Given the description of an element on the screen output the (x, y) to click on. 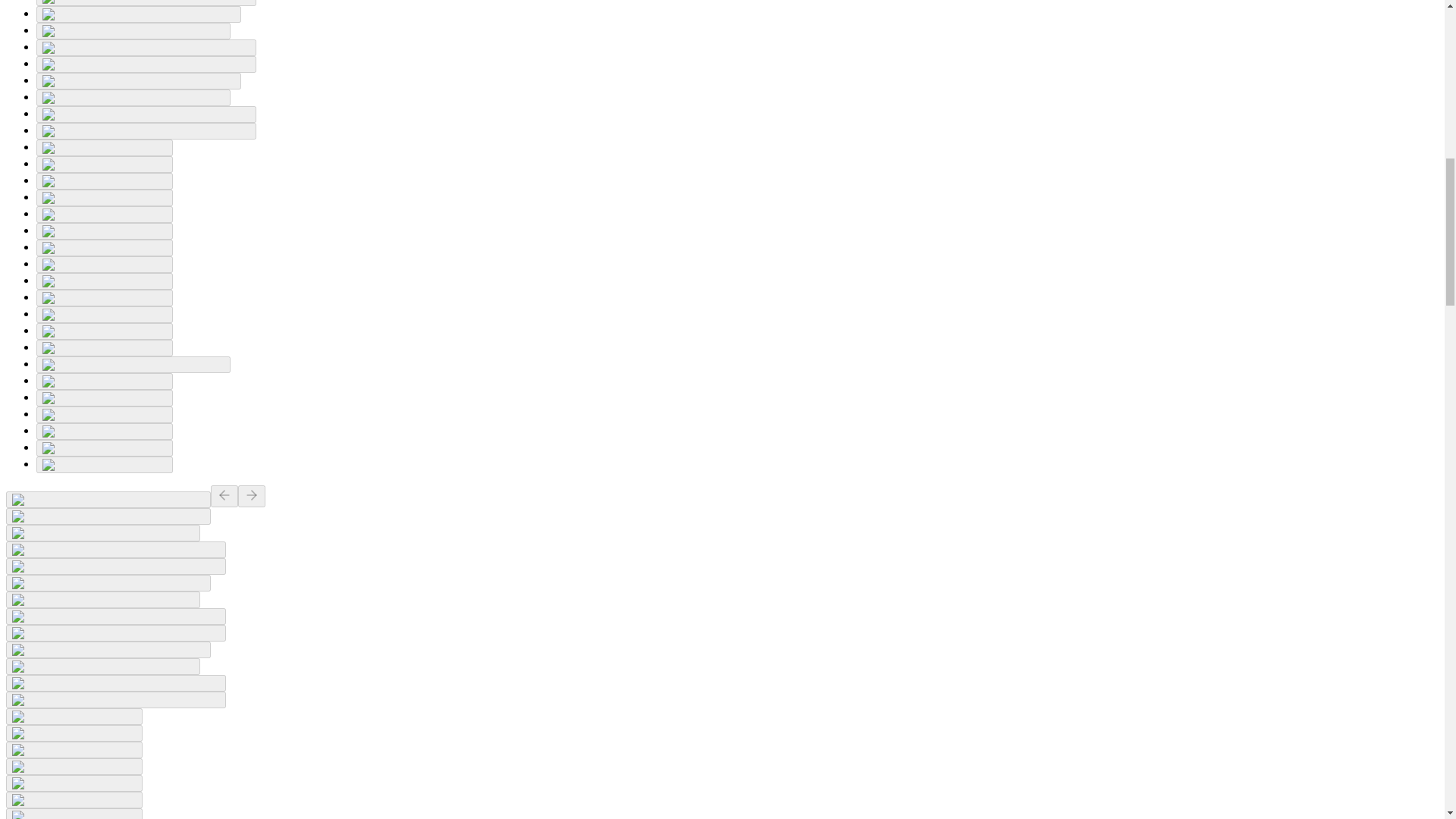
arrowLeft icon (223, 494)
arrowRight icon (251, 494)
